Given the description of an element on the screen output the (x, y) to click on. 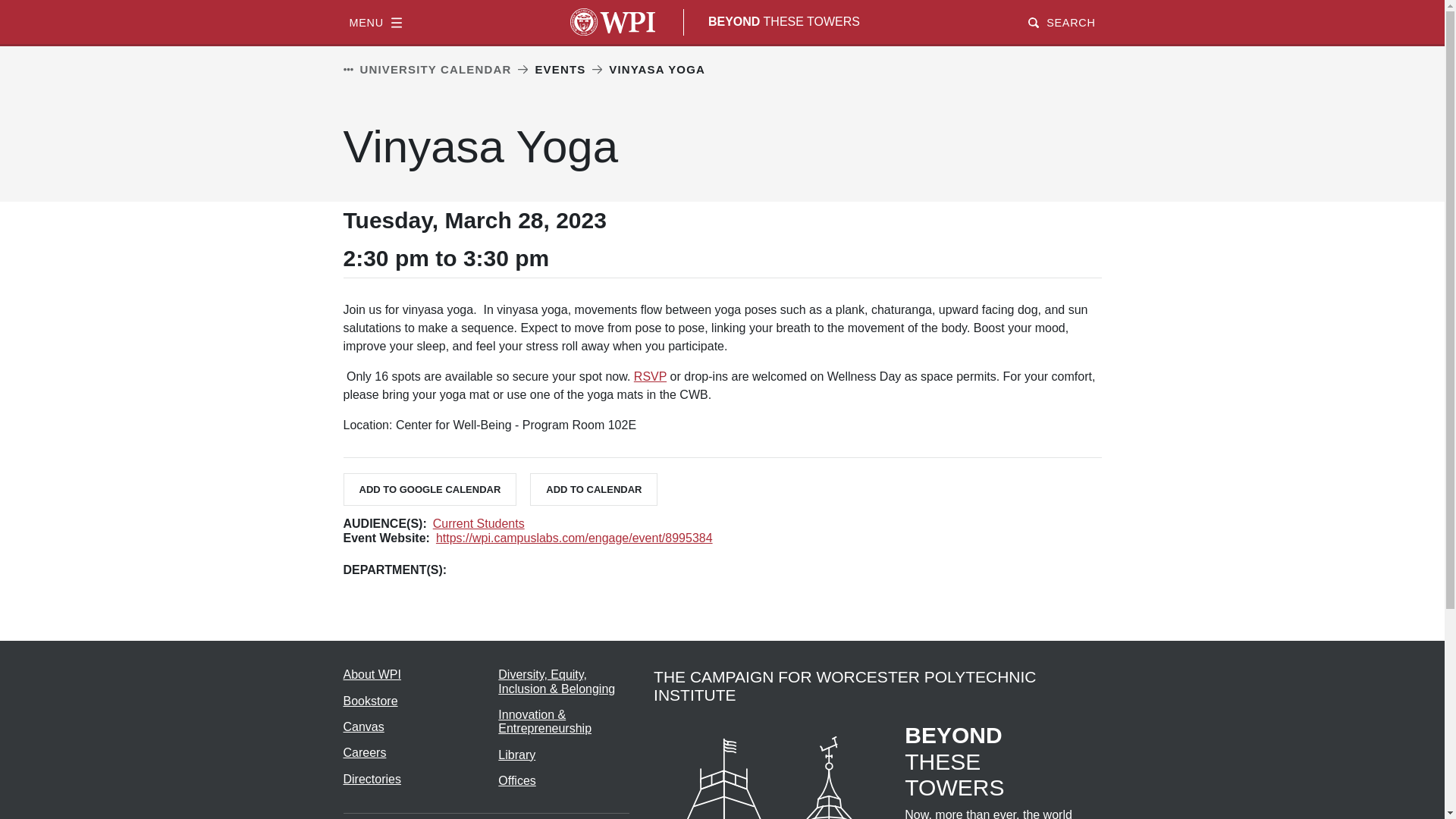
MENU (374, 21)
Skip to main content (721, 1)
BEYOND THESE TOWERS (783, 21)
WPI Home (612, 22)
SEARCH (1061, 21)
